Given the description of an element on the screen output the (x, y) to click on. 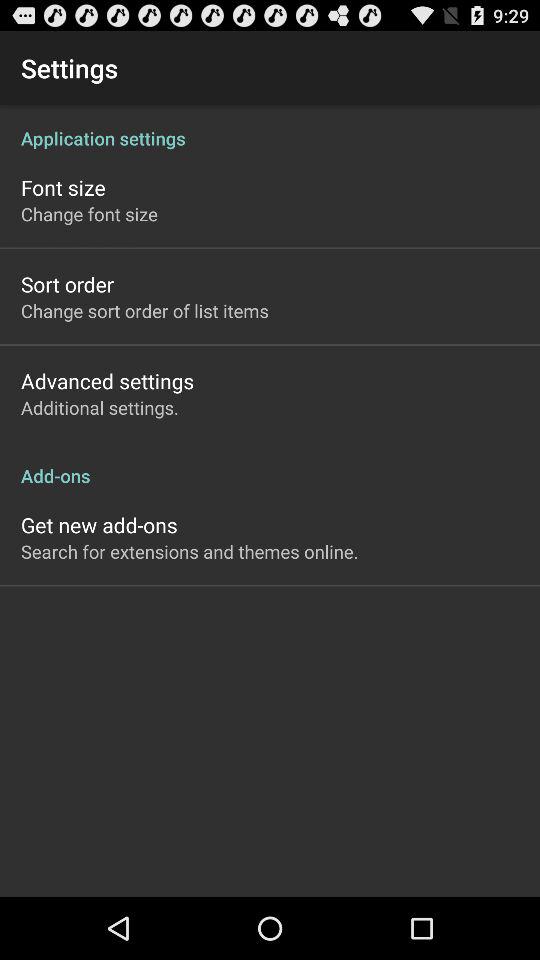
choose the app above search for extensions icon (99, 524)
